Given the description of an element on the screen output the (x, y) to click on. 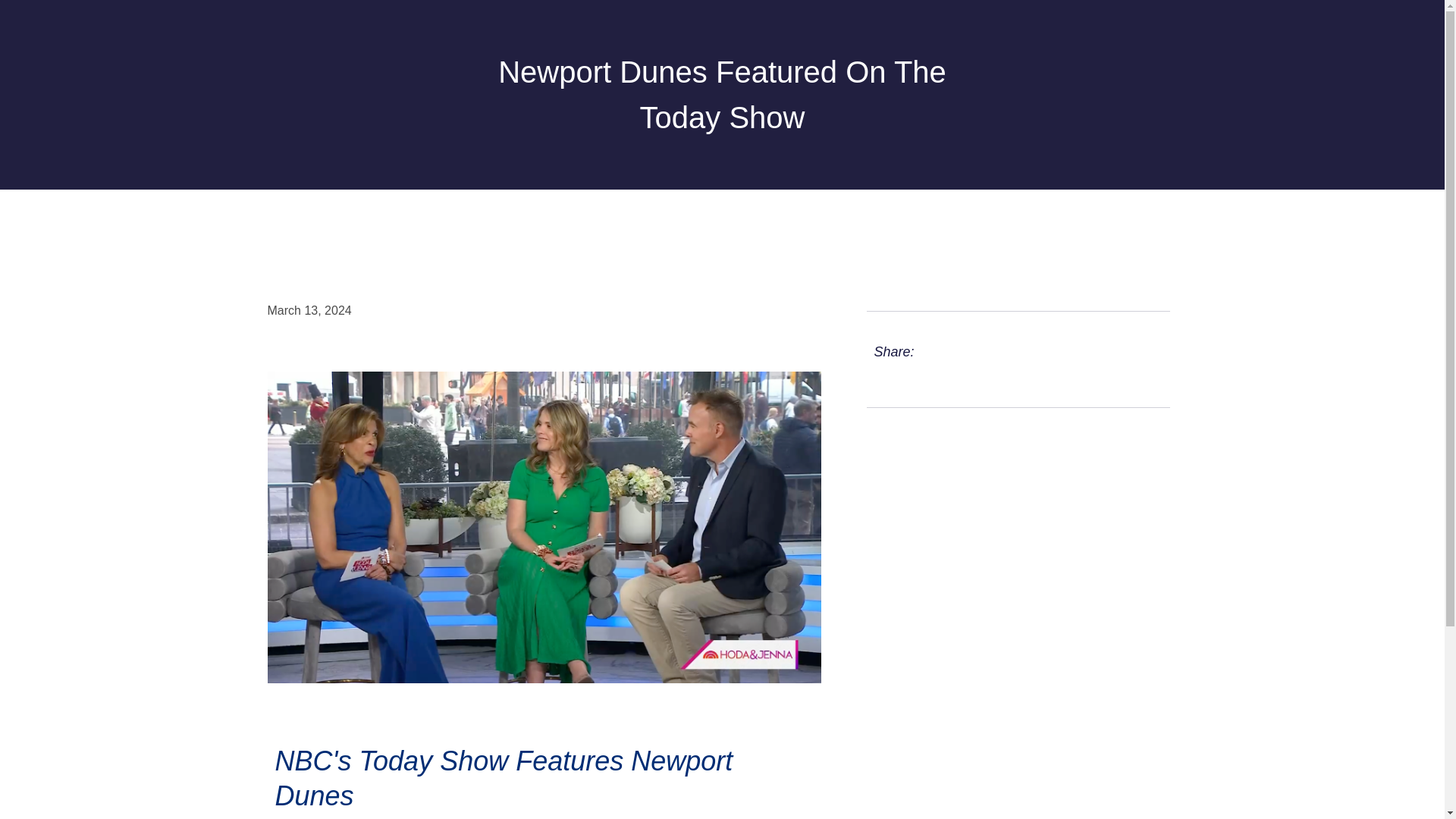
March 13, 2024 (308, 310)
